Given the description of an element on the screen output the (x, y) to click on. 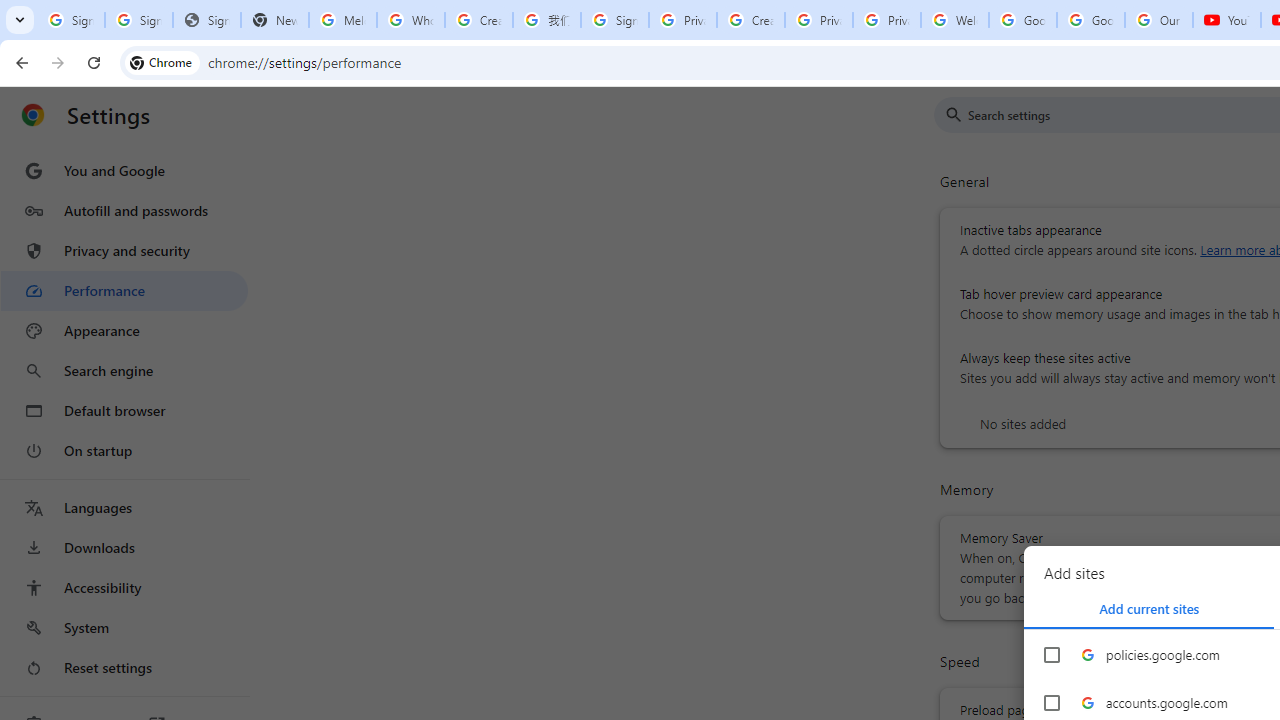
Sign in - Google Accounts (138, 20)
Sign In - USA TODAY (206, 20)
policies.google.com (1051, 655)
Sign in - Google Accounts (614, 20)
Welcome to My Activity (954, 20)
Create your Google Account (750, 20)
Sign in - Google Accounts (70, 20)
New Tab (274, 20)
